Given the description of an element on the screen output the (x, y) to click on. 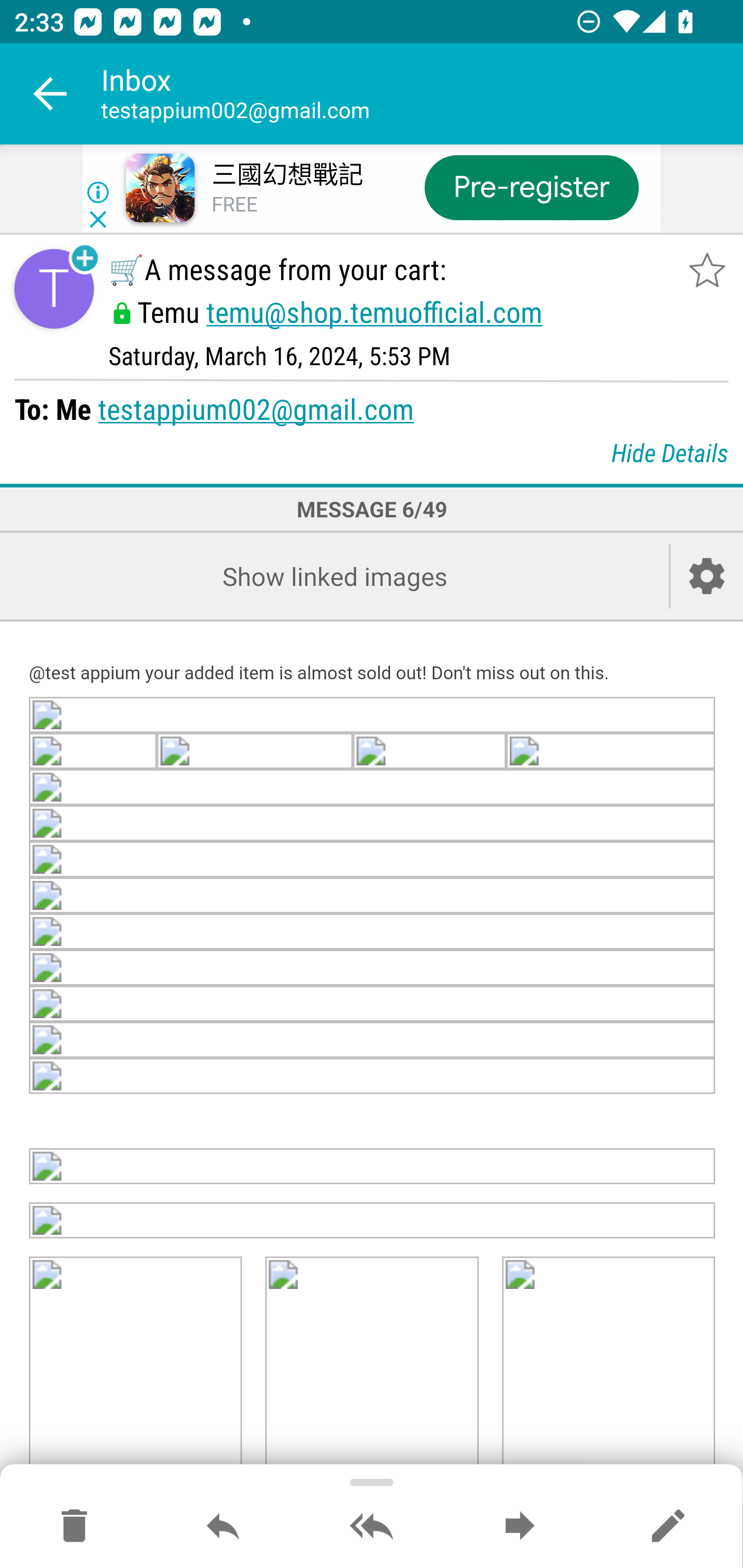
Navigate up (50, 93)
Inbox testappium002@gmail.com (422, 93)
Pre-register (530, 187)
三國幻想戰記 (287, 175)
FREE (234, 204)
Sender contact button (53, 289)
Show linked images (334, 576)
Account setup (706, 576)
data: (372, 714)
data: (93, 750)
data: (254, 750)
data: (429, 750)
data: (610, 750)
data: (372, 786)
data: (372, 860)
data: (372, 932)
data: (372, 968)
data: (372, 1004)
data: (372, 1040)
data: (372, 1077)
data: (372, 1165)
mbs_landing_goods (372, 1220)
mbs_landing_goods (135, 1363)
mbs_landing_goods (371, 1363)
mbs_landing_goods (608, 1363)
Move to Deleted (74, 1527)
Reply (222, 1527)
Reply all (371, 1527)
Forward (519, 1527)
Reply as new (667, 1527)
